Given the description of an element on the screen output the (x, y) to click on. 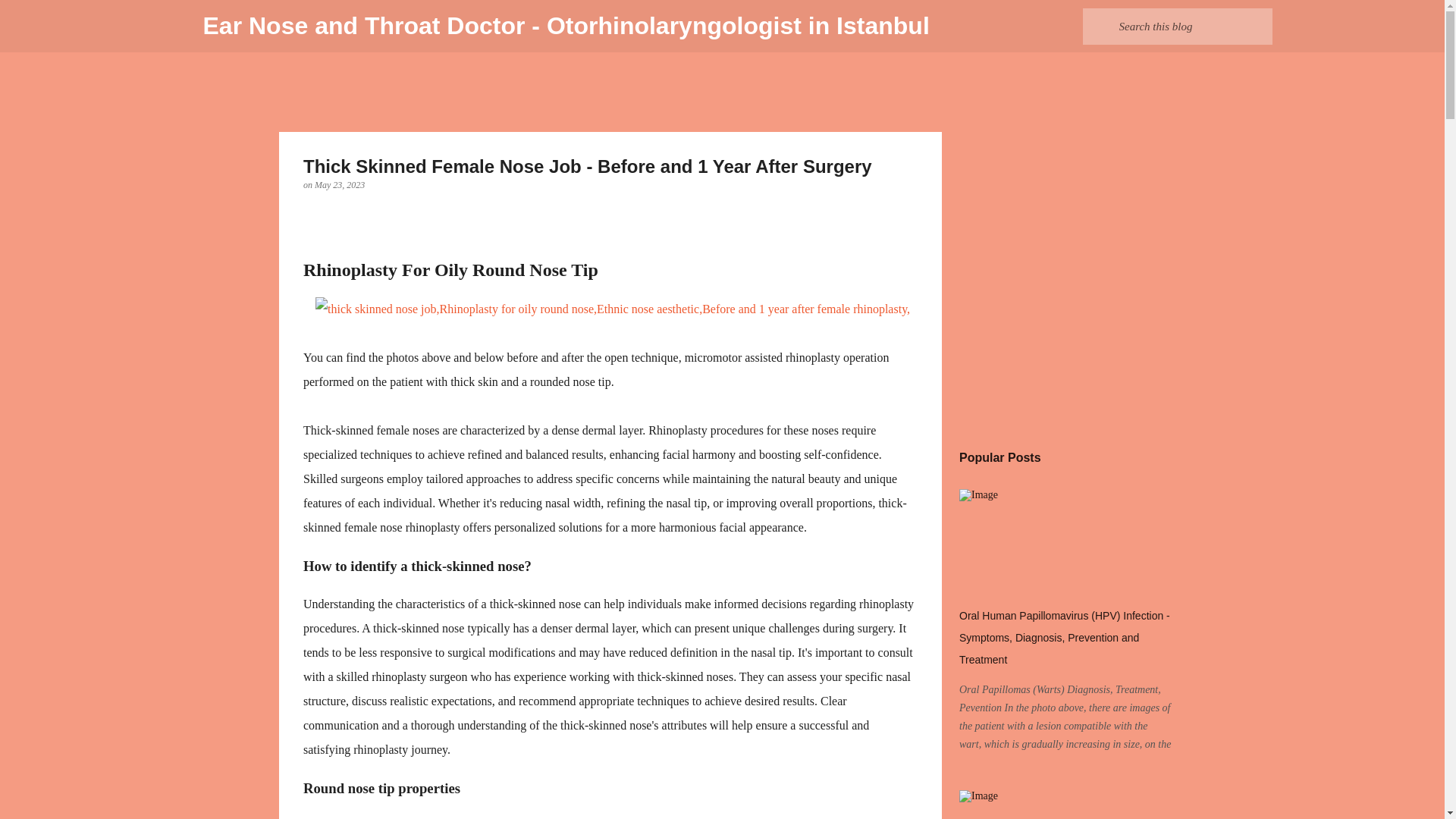
May 23, 2023 (339, 184)
permanent link (339, 184)
